Given the description of an element on the screen output the (x, y) to click on. 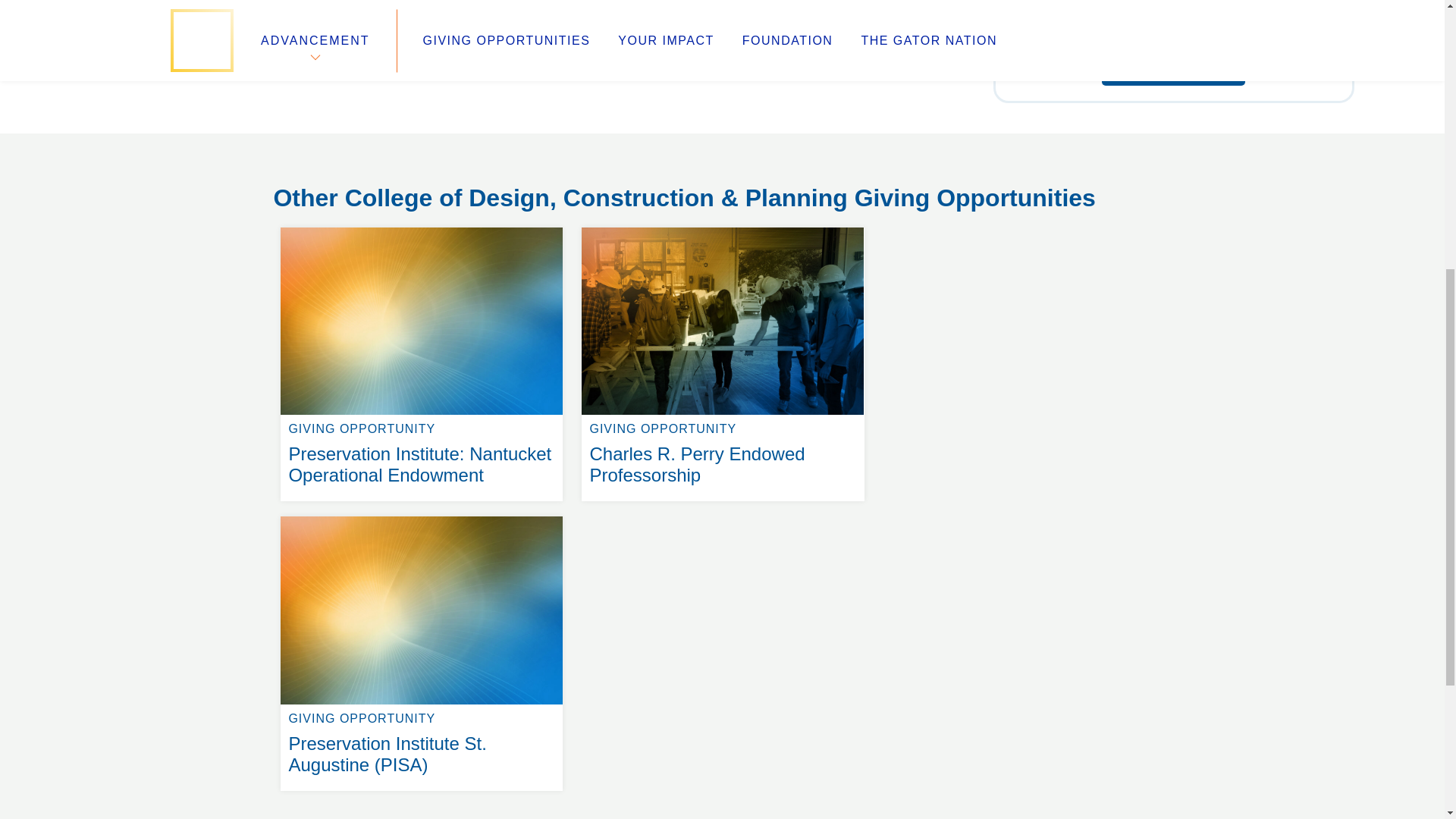
Contact Us (306, 216)
Privacy Policy (545, 198)
Advancement HUB (560, 161)
Join Our Team (721, 227)
Complete My Gift (317, 161)
Disclosures (1173, 69)
University of Florida (537, 216)
Foundation Board (840, 161)
Staff Directory (327, 198)
Advancement Toolkit (316, 180)
